Given the description of an element on the screen output the (x, y) to click on. 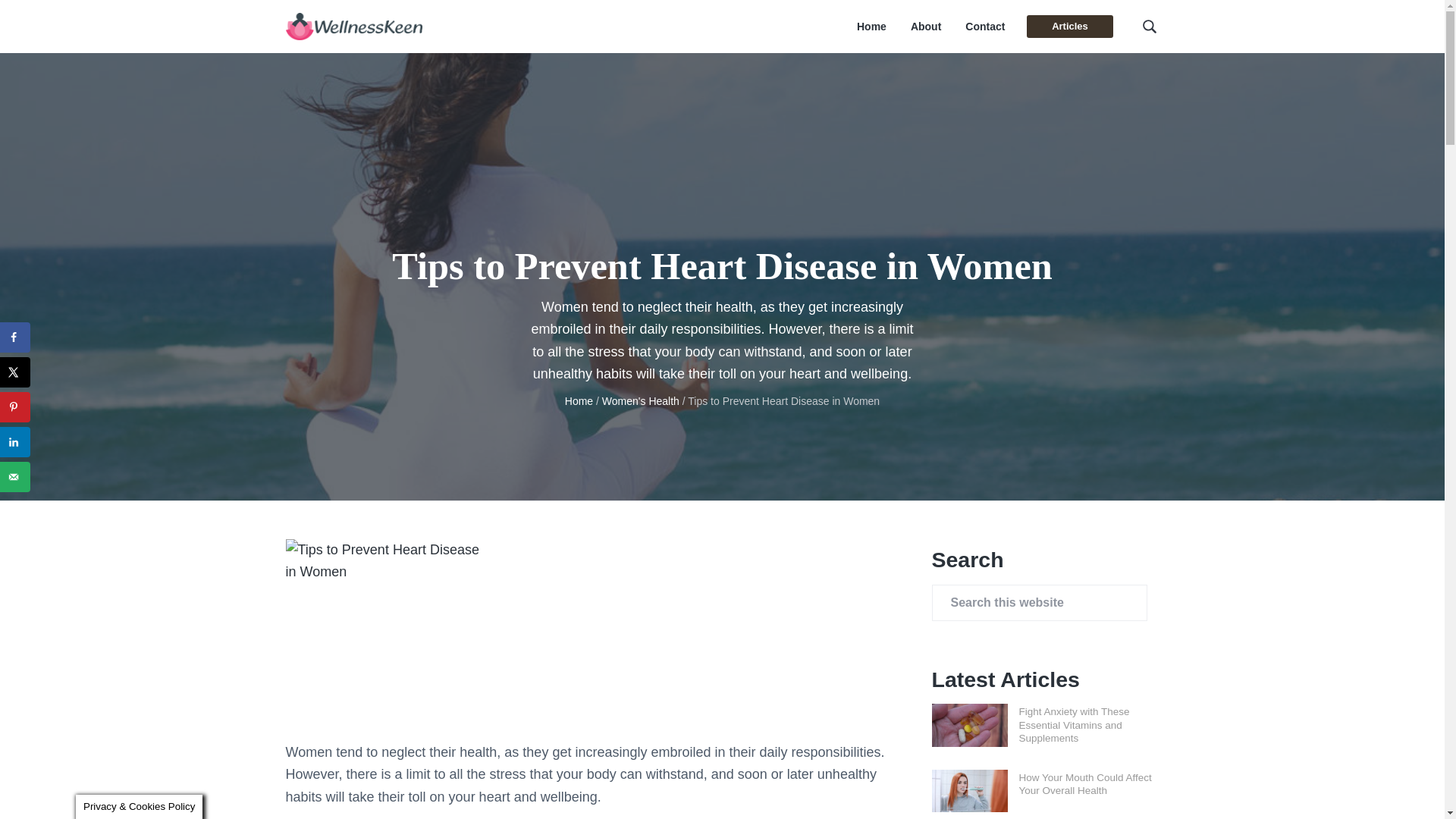
Share on Facebook (15, 337)
How Your Mouth Could Affect Your Overall Health (1085, 784)
Save to Pinterest (15, 407)
Home (578, 400)
Fight Anxiety with These Essential Vitamins and Supplements (1074, 724)
Home (871, 27)
Women's Health (640, 400)
Search (60, 18)
Articles (1068, 25)
Share on LinkedIn (15, 441)
Share on X (15, 372)
Contact (984, 27)
About (925, 27)
